Given the description of an element on the screen output the (x, y) to click on. 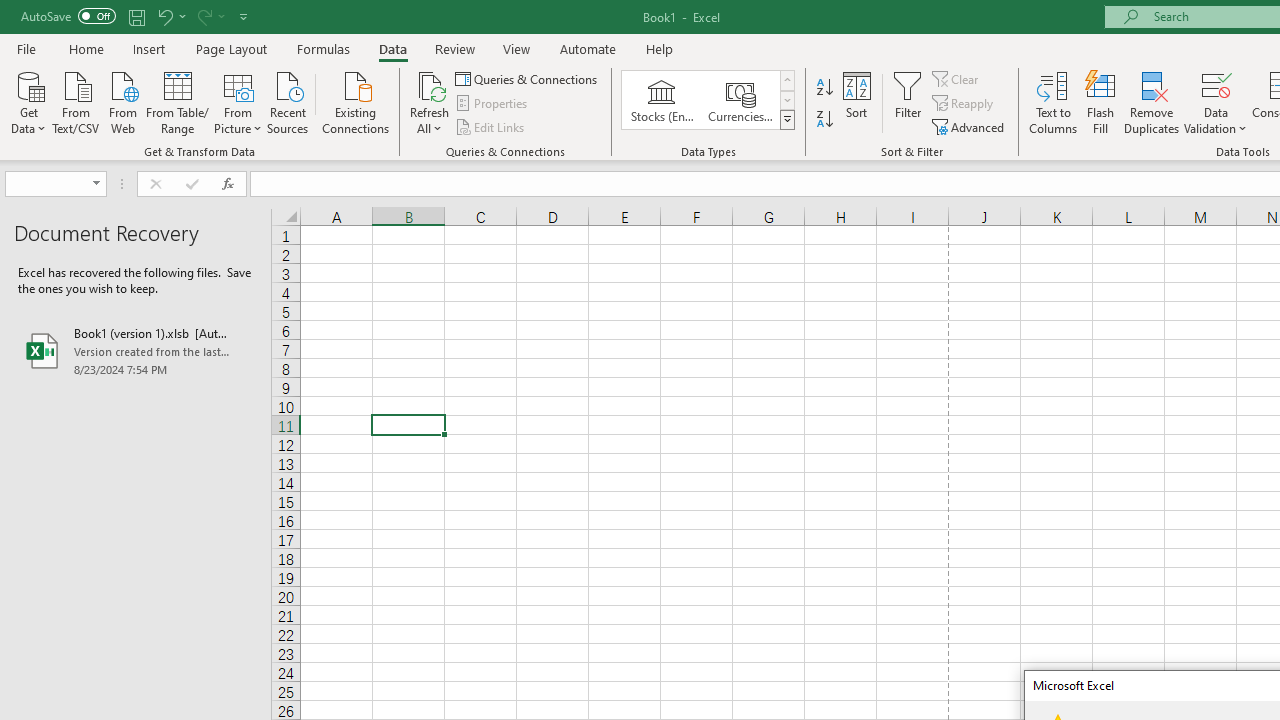
From Text/CSV (75, 101)
Recent Sources (287, 101)
From Table/Range (177, 101)
From Web (122, 101)
Edit Links (491, 126)
Book1 (version 1).xlsb  [AutoRecovered] (136, 350)
